Given the description of an element on the screen output the (x, y) to click on. 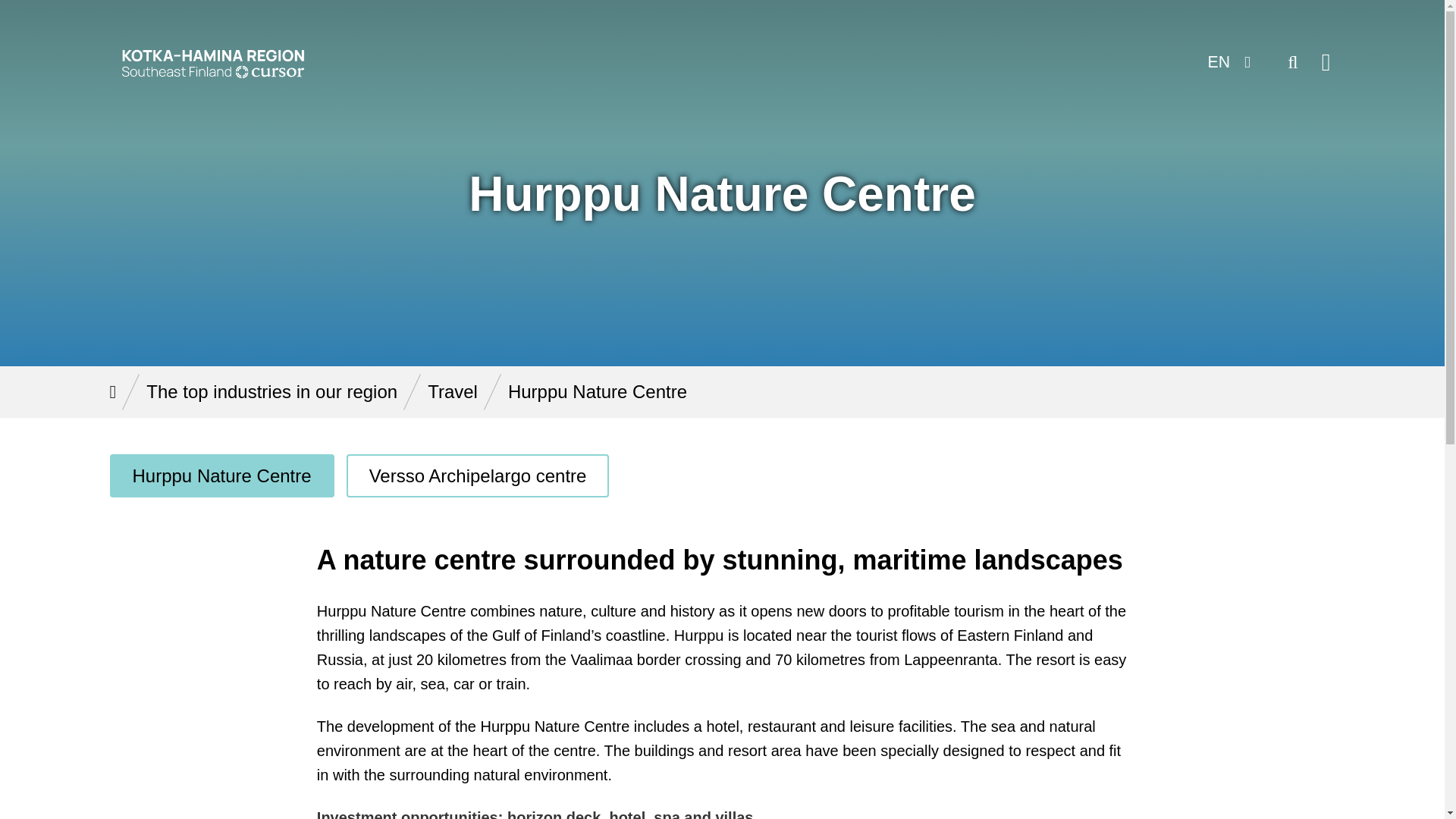
EN (1227, 62)
Hurppu Nature Centre (221, 475)
Search (1292, 62)
The top industries in our region (272, 391)
Travel (452, 391)
Versso Archipelargo centre (478, 475)
